Given the description of an element on the screen output the (x, y) to click on. 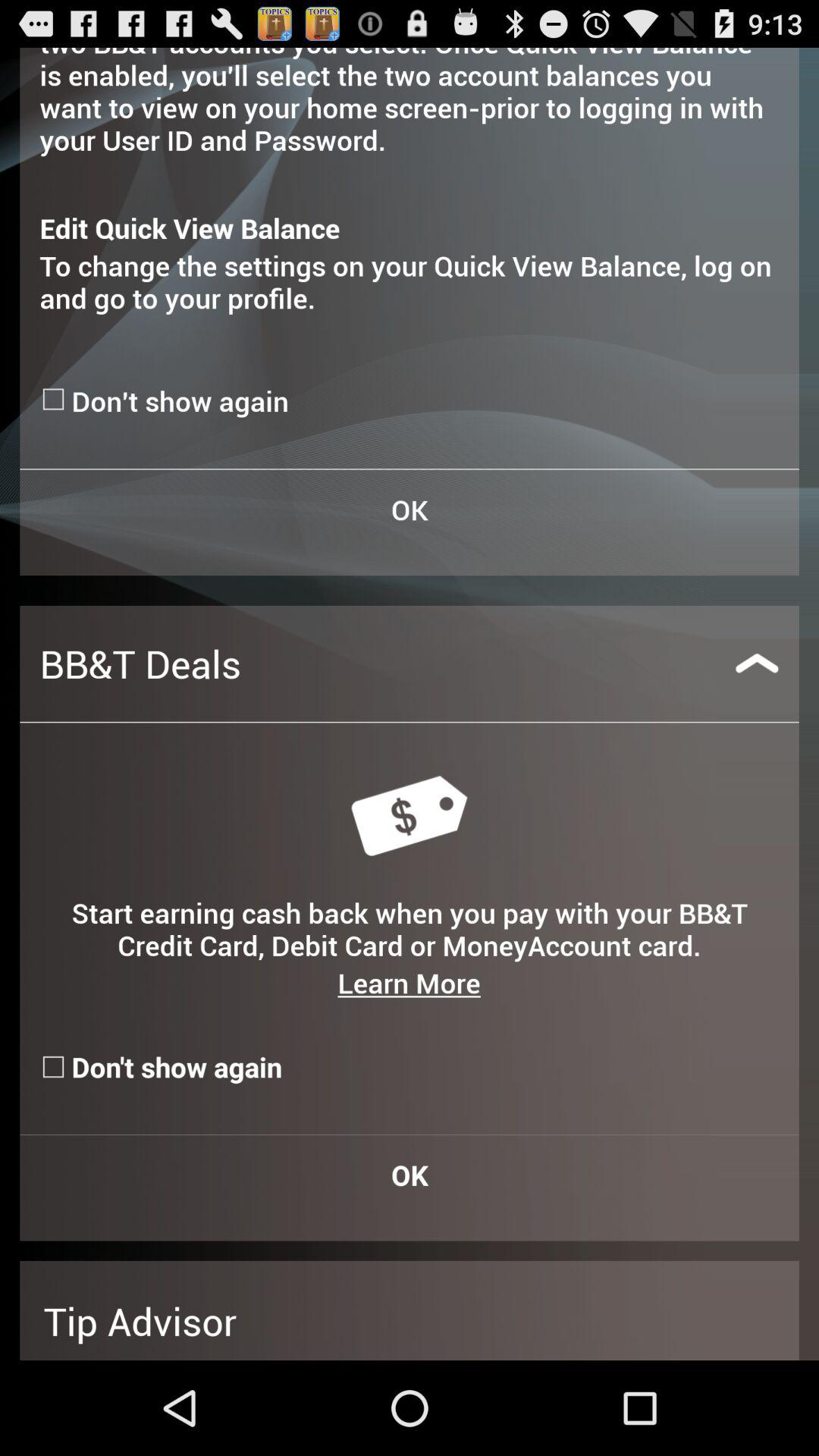
do n't show message (55, 398)
